Given the description of an element on the screen output the (x, y) to click on. 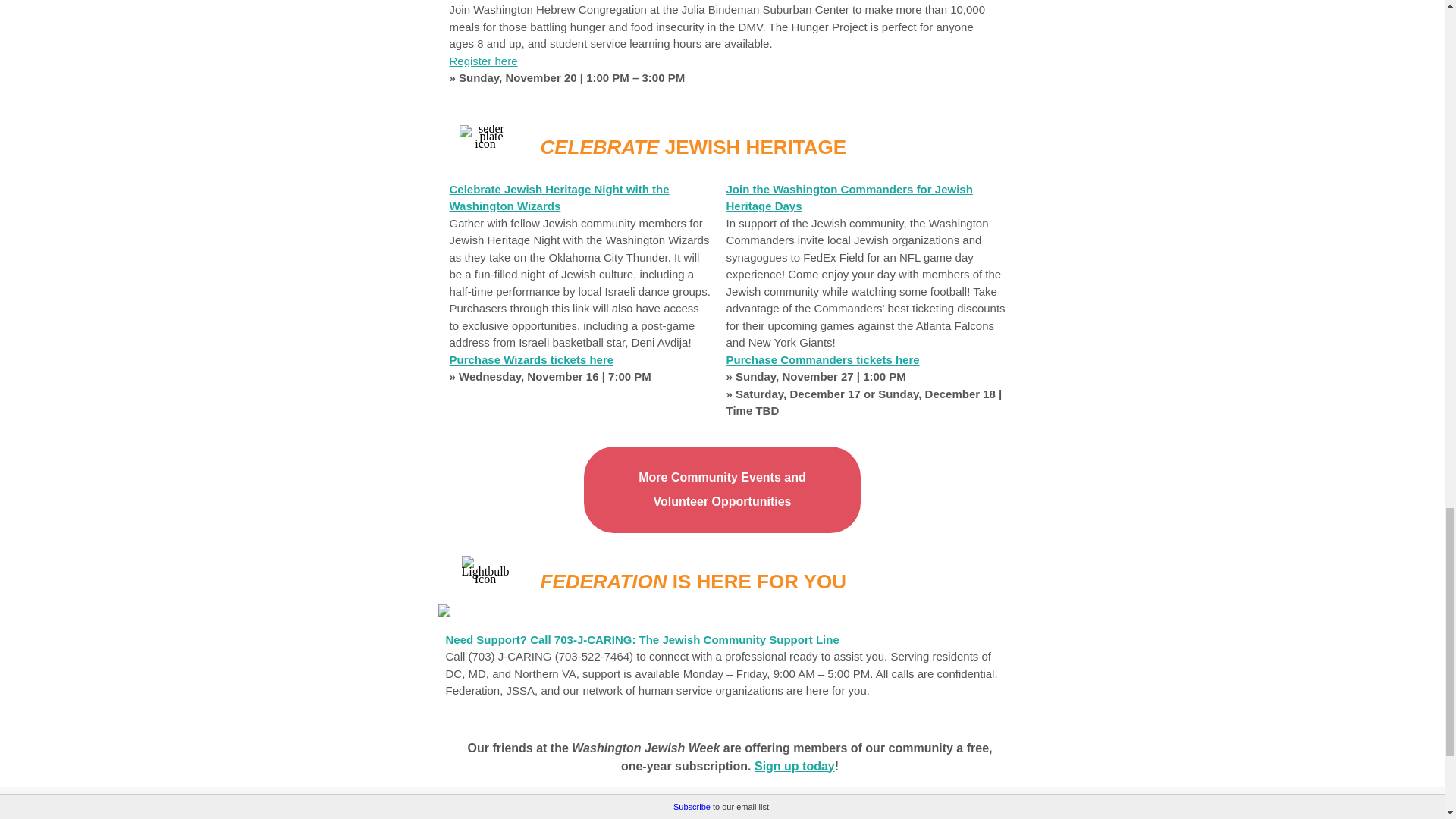
Join the Washington Commanders for Jewish Heritage Days (849, 196)
Purchase Commanders tickets here (823, 359)
Sign up today (794, 766)
More Community Events and Volunteer Opportunities (721, 488)
Celebrate Jewish Heritage Night with the Washington Wizards (558, 196)
Purchase Wizards tickets here (530, 359)
Federation Logo (722, 803)
seder plate icon (486, 135)
Lightbulb Icon (484, 568)
